Given the description of an element on the screen output the (x, y) to click on. 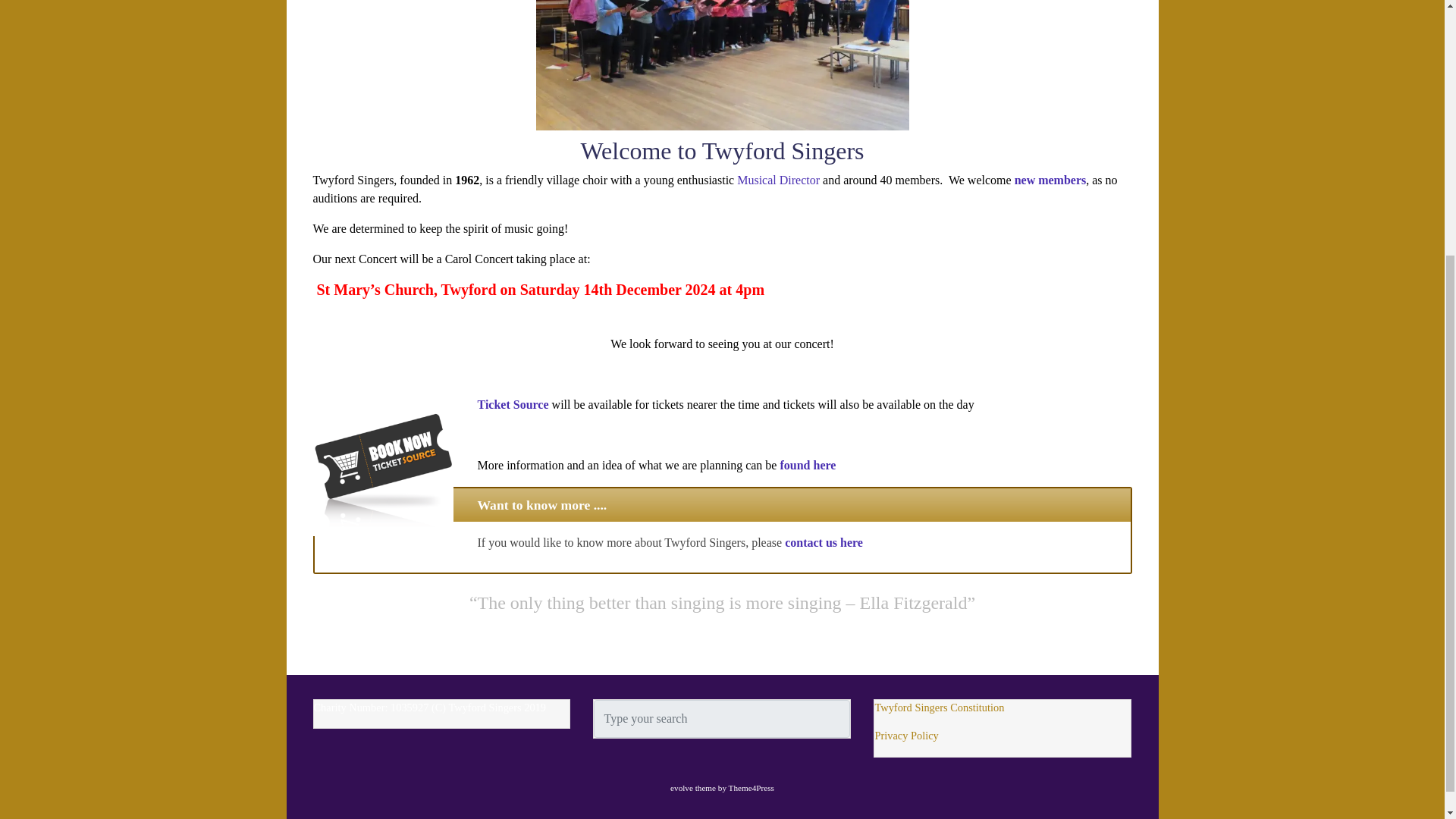
Privacy Policy (906, 735)
Musical Director (777, 179)
Twyford Singers Constitution (939, 707)
Ticket Source (512, 404)
contact us here (823, 542)
new members (1050, 179)
evolve (681, 787)
found here (806, 464)
